Given the description of an element on the screen output the (x, y) to click on. 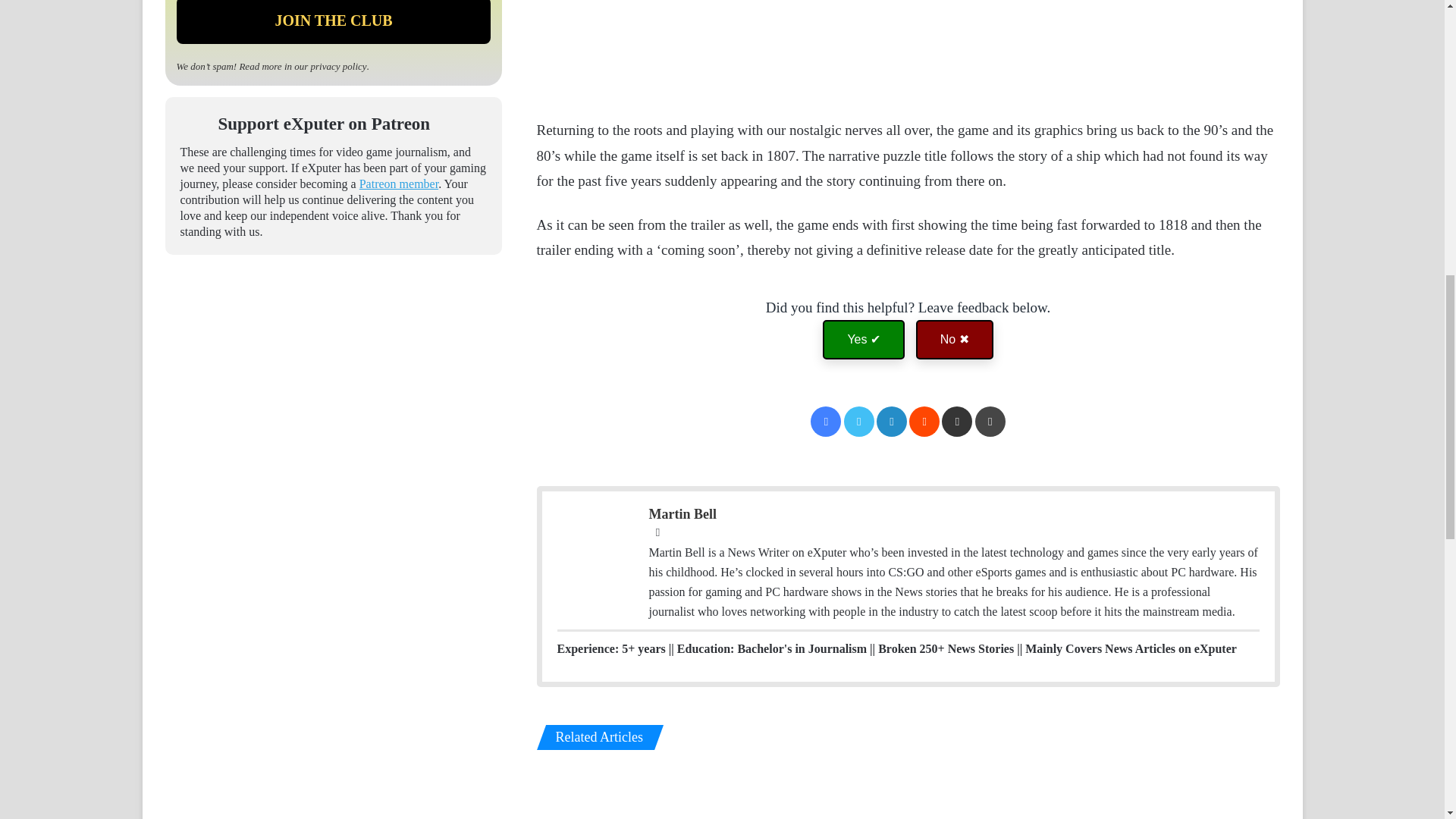
Facebook (825, 421)
Twitter (859, 421)
Share via Email (957, 421)
LinkedIn (891, 421)
Reddit (923, 421)
JOIN THE  CLUB (333, 22)
Print (990, 421)
